Given the description of an element on the screen output the (x, y) to click on. 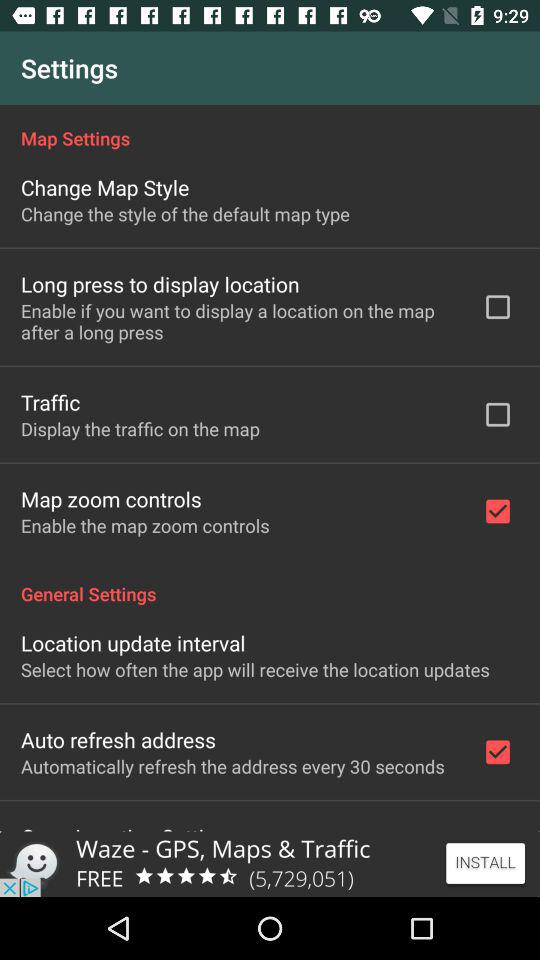
turn off the general settings icon (270, 583)
